Given the description of an element on the screen output the (x, y) to click on. 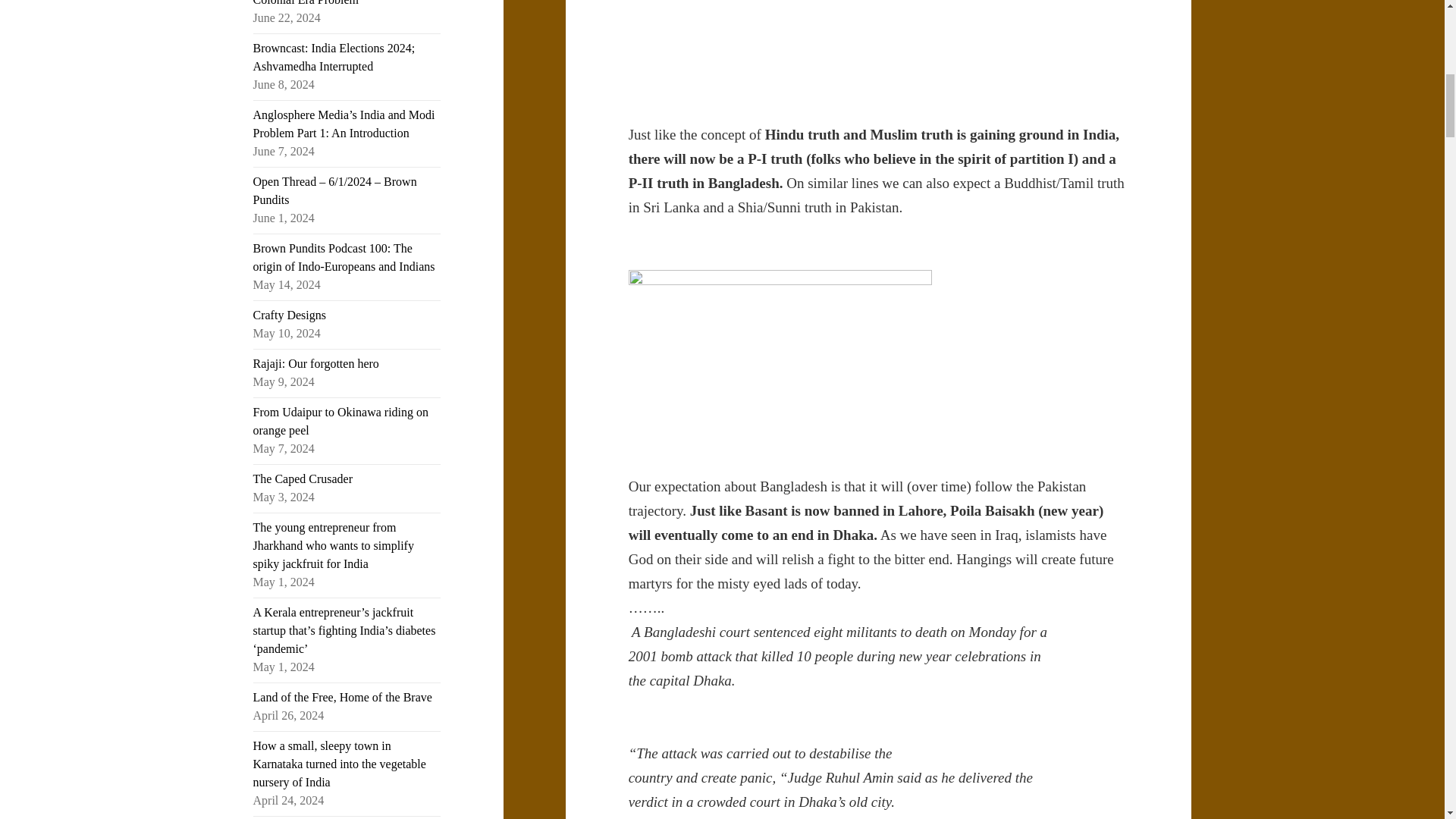
Land of the Free, Home of the Brave (342, 697)
The Caped Crusader (303, 478)
From Udaipur to Okinawa riding on orange peel (341, 420)
Blasphemy in Pakistan; NOT a Colonial Era Problem (328, 2)
Rajaji: Our forgotten hero (315, 363)
Browncast: India Elections 2024; Ashvamedha Interrupted (333, 56)
Crafty Designs (289, 314)
